Given the description of an element on the screen output the (x, y) to click on. 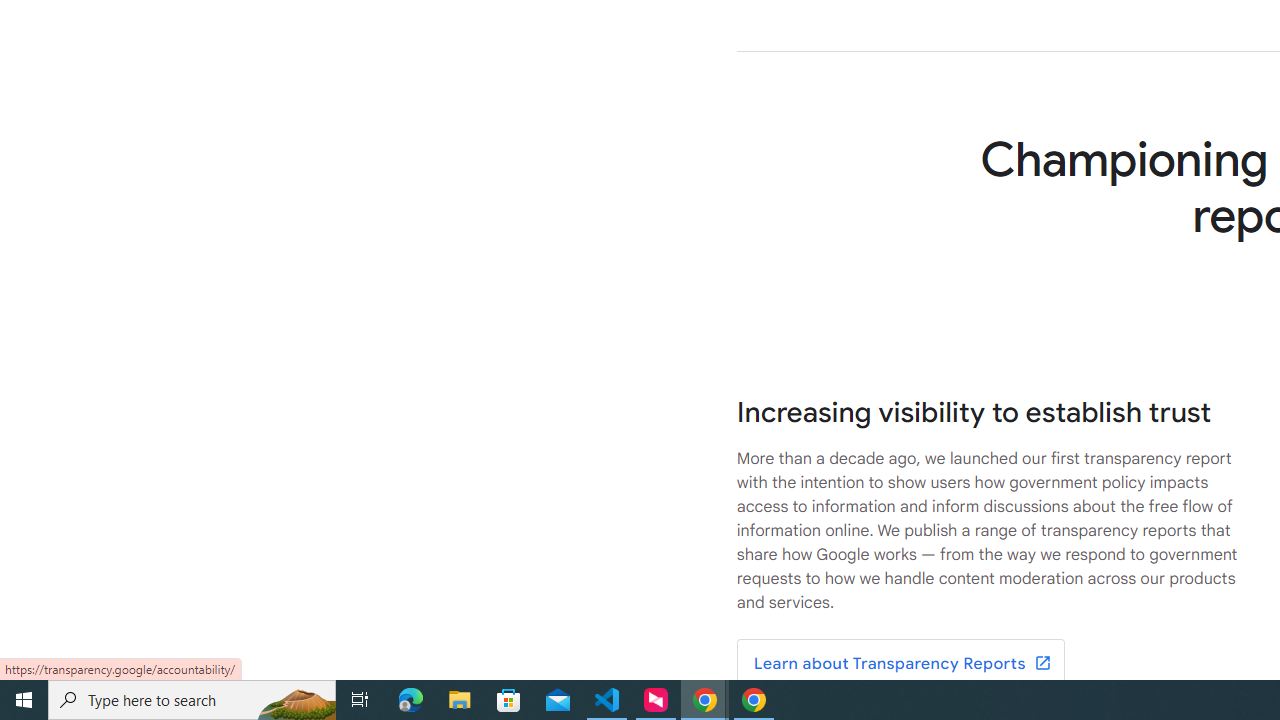
Go to Transparency Report About web page (900, 664)
